Given the description of an element on the screen output the (x, y) to click on. 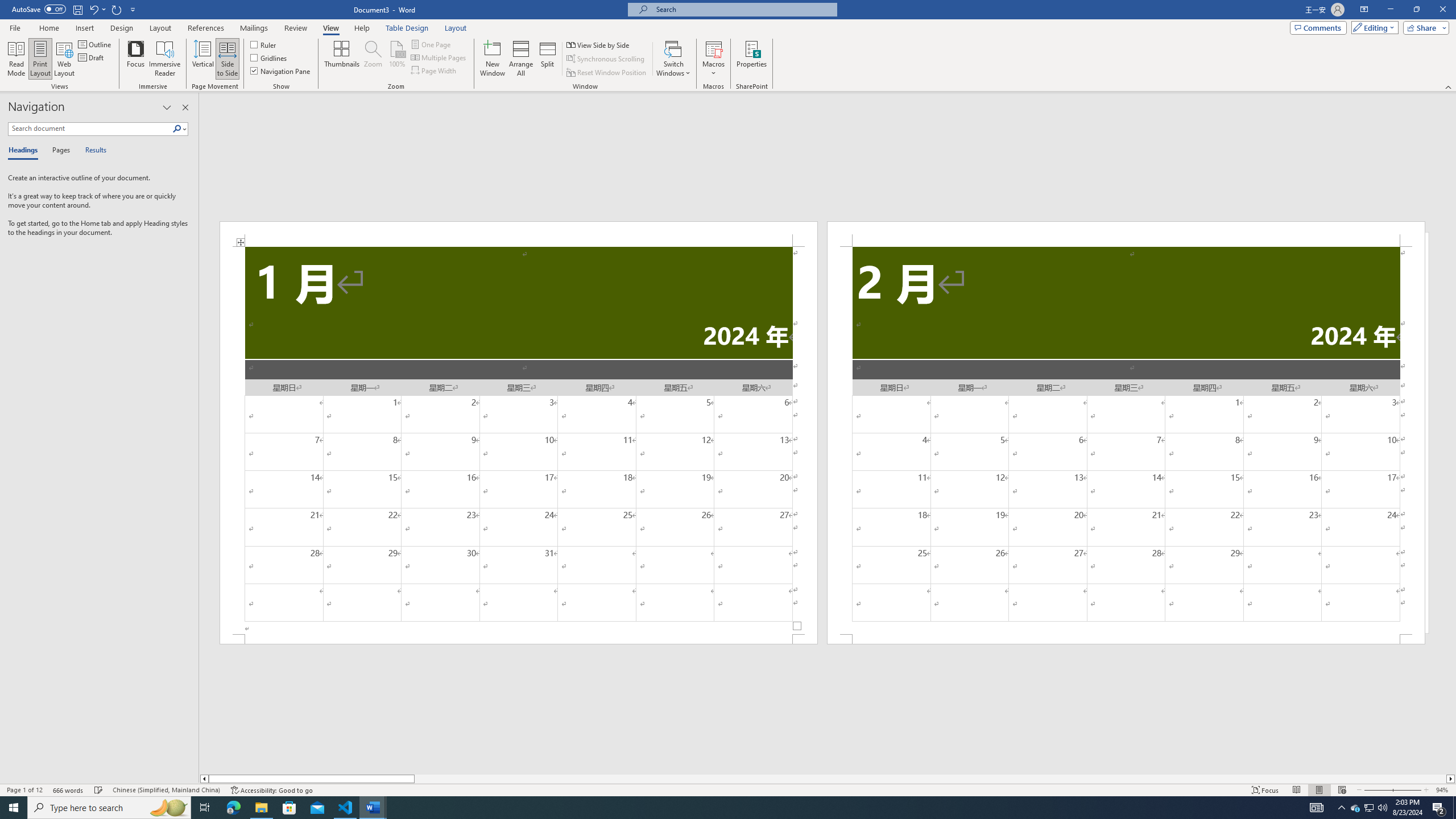
View Side by Side (598, 44)
One Page (431, 44)
Focus (135, 58)
View Macros (713, 48)
